Given the description of an element on the screen output the (x, y) to click on. 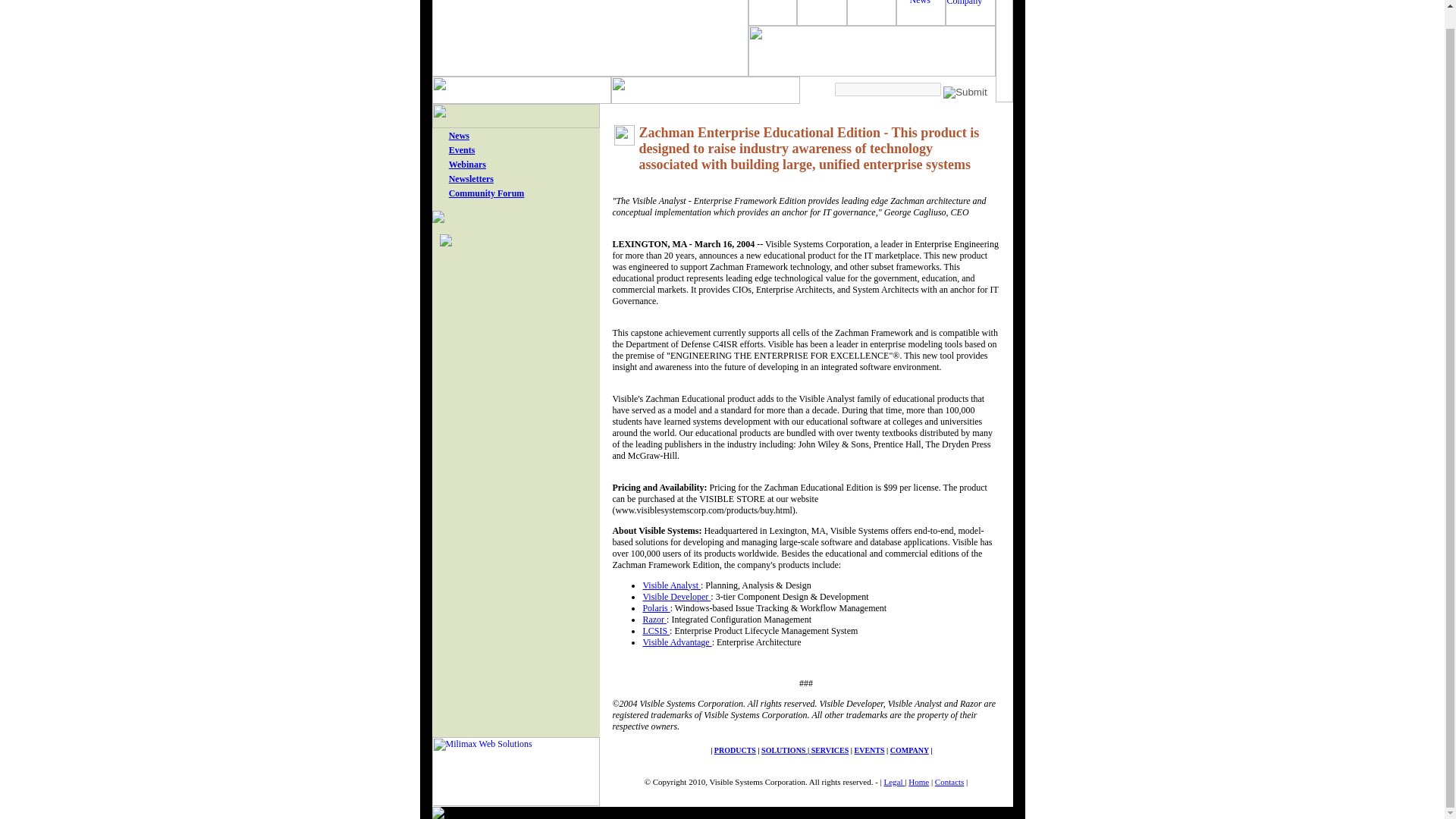
Home (918, 781)
Visible Analyst (671, 584)
Submit (965, 92)
Events (462, 149)
SERVICES (829, 750)
SOLUTIONS (784, 750)
Webinars (467, 163)
PRODUCTS (734, 750)
News (458, 135)
Visible Developer (676, 596)
LCSIS (655, 630)
Polaris (655, 607)
Legal (894, 781)
Community Forum (486, 193)
COMPANY (908, 750)
